Given the description of an element on the screen output the (x, y) to click on. 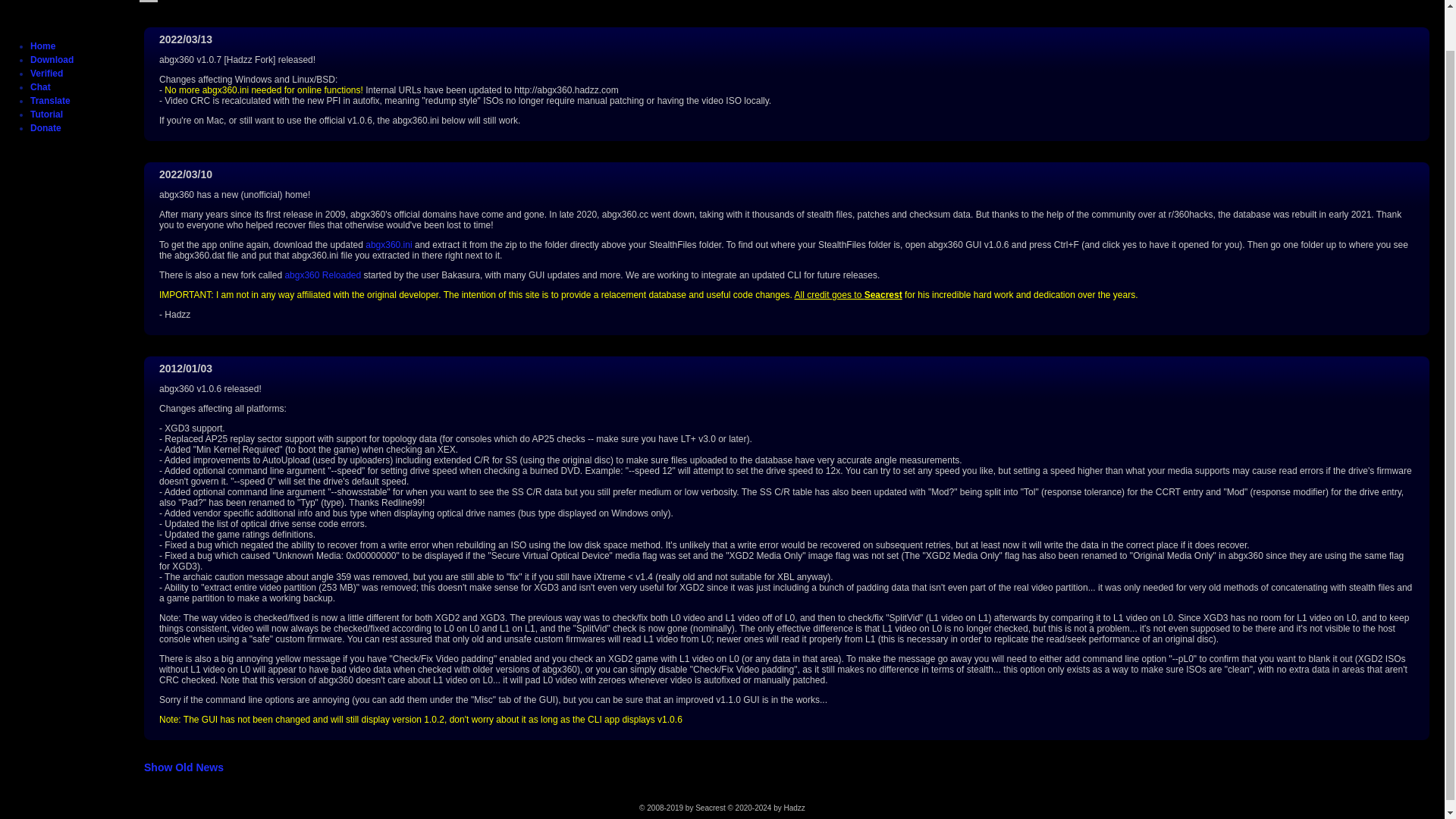
Donate (45, 127)
Verified (46, 72)
Download (52, 59)
Chat (40, 86)
abgx360 Reloaded (322, 275)
abgx360.ini (388, 244)
Show Old News (184, 767)
Home (42, 45)
Tutorial (46, 113)
Translate (49, 100)
